Given the description of an element on the screen output the (x, y) to click on. 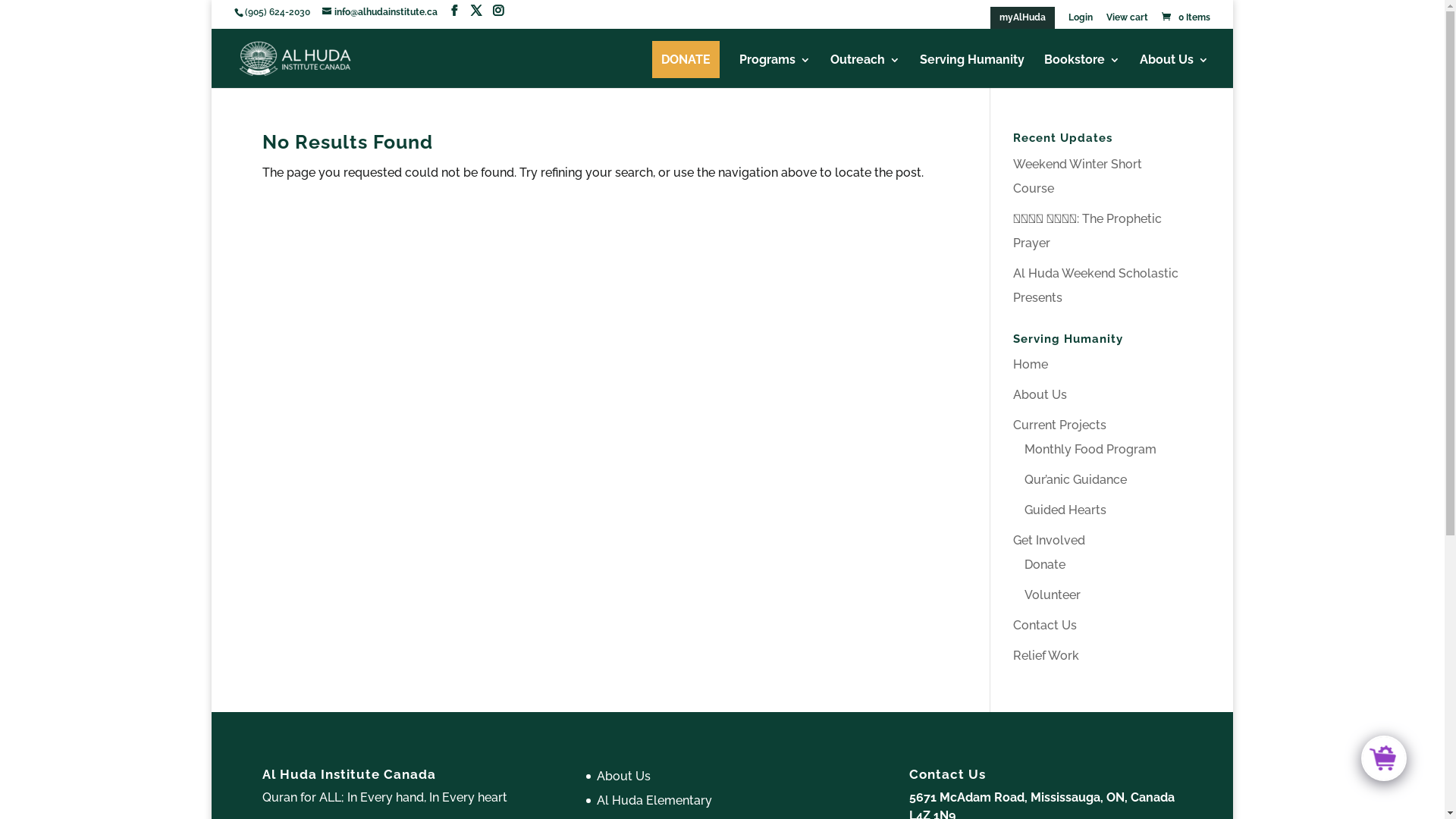
Outreach Element type: text (865, 70)
Monthly Food Program Element type: text (1090, 449)
About Us Element type: text (1039, 394)
Weekend Winter Short Course Element type: text (1077, 175)
Home Element type: text (1030, 364)
View cart Element type: text (1127, 20)
Current Projects Element type: text (1059, 424)
Programs Element type: text (774, 70)
Serving Humanity Element type: text (971, 70)
0 Items Element type: text (1184, 17)
myAlHuda Element type: text (1022, 17)
Relief Work Element type: text (1046, 655)
Bookstore Element type: text (1082, 70)
About Us Element type: text (623, 775)
Login Element type: text (1080, 20)
Get Involved Element type: text (1049, 540)
info@alhudainstitute.ca Element type: text (380, 11)
Donate Element type: text (1044, 564)
Guided Hearts Element type: text (1065, 509)
About Us Element type: text (1173, 70)
Contact Us Element type: text (1044, 625)
Al Huda Elementary Element type: text (654, 800)
Al Huda Weekend Scholastic Presents Element type: text (1095, 284)
DONATE Element type: text (685, 59)
Volunteer Element type: text (1052, 594)
